Given the description of an element on the screen output the (x, y) to click on. 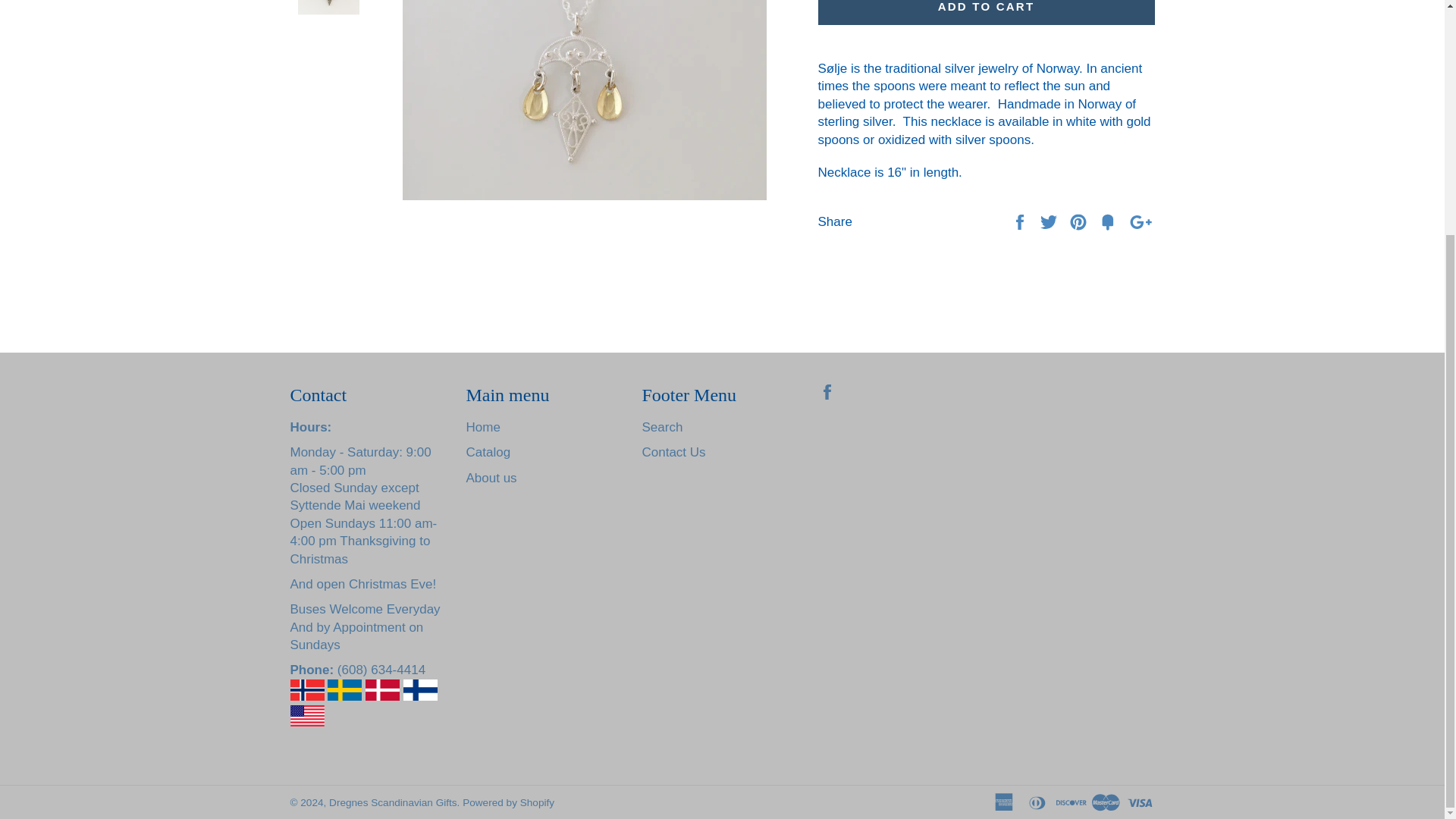
Powered by Shopify (508, 802)
Share (1021, 220)
Search (662, 427)
Facebook (829, 391)
About us (490, 477)
Contact Us (673, 452)
Dregnes Scandinavian Gifts on Facebook (829, 391)
ADD TO CART (985, 12)
Dregnes Scandinavian Gifts (393, 802)
Pin it (1079, 220)
